Given the description of an element on the screen output the (x, y) to click on. 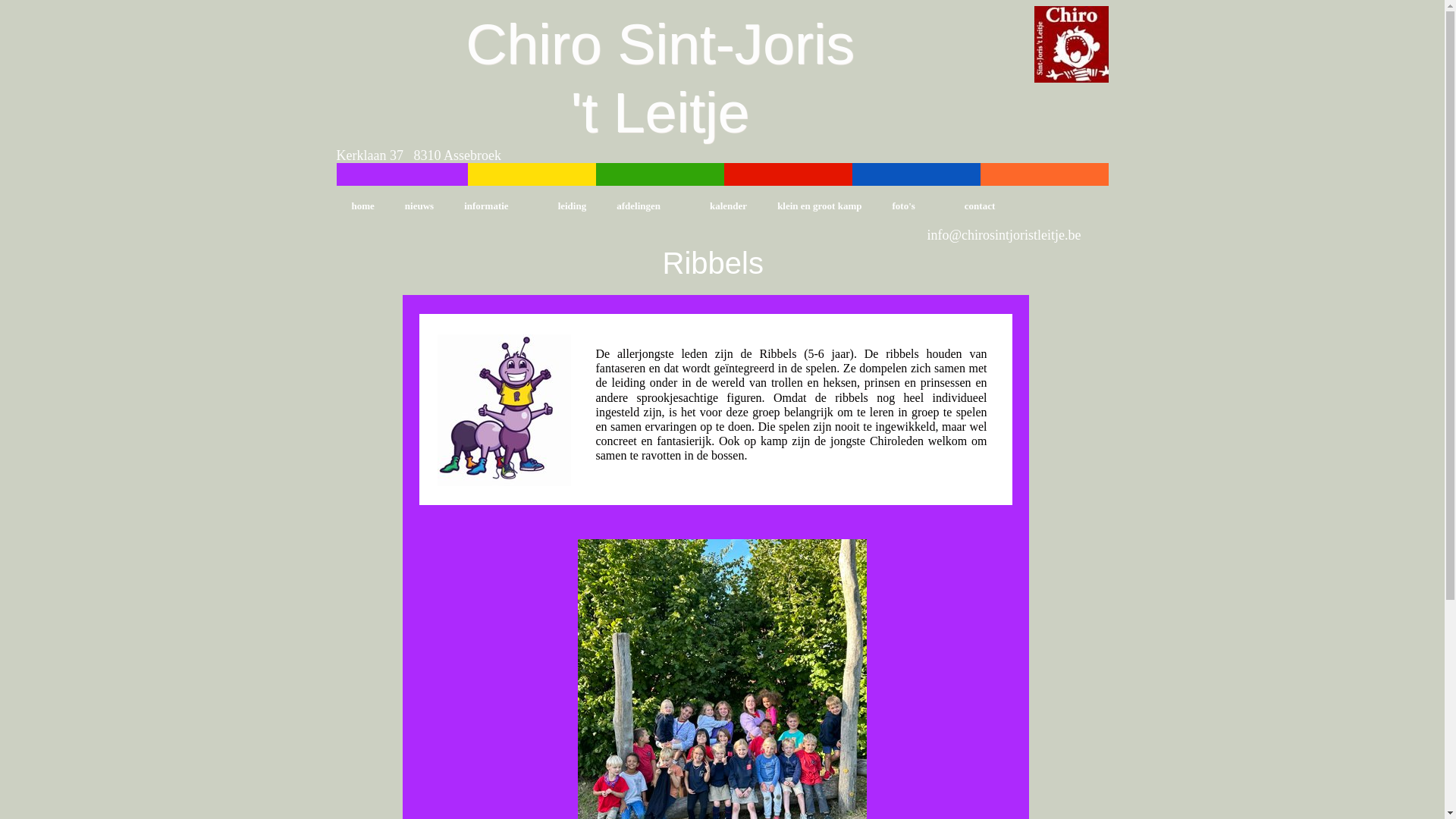
informatie Element type: text (495, 206)
afdelingen Element type: text (647, 206)
't Leitje Element type: text (660, 112)
Chiro Sint-Joris Element type: text (659, 43)
leiding Element type: text (572, 206)
foto's Element type: text (912, 206)
klein en groot kamp Element type: text (819, 206)
nieuws Element type: text (418, 206)
contact Element type: text (979, 206)
home Element type: text (362, 206)
kalender Element type: text (728, 206)
